Given the description of an element on the screen output the (x, y) to click on. 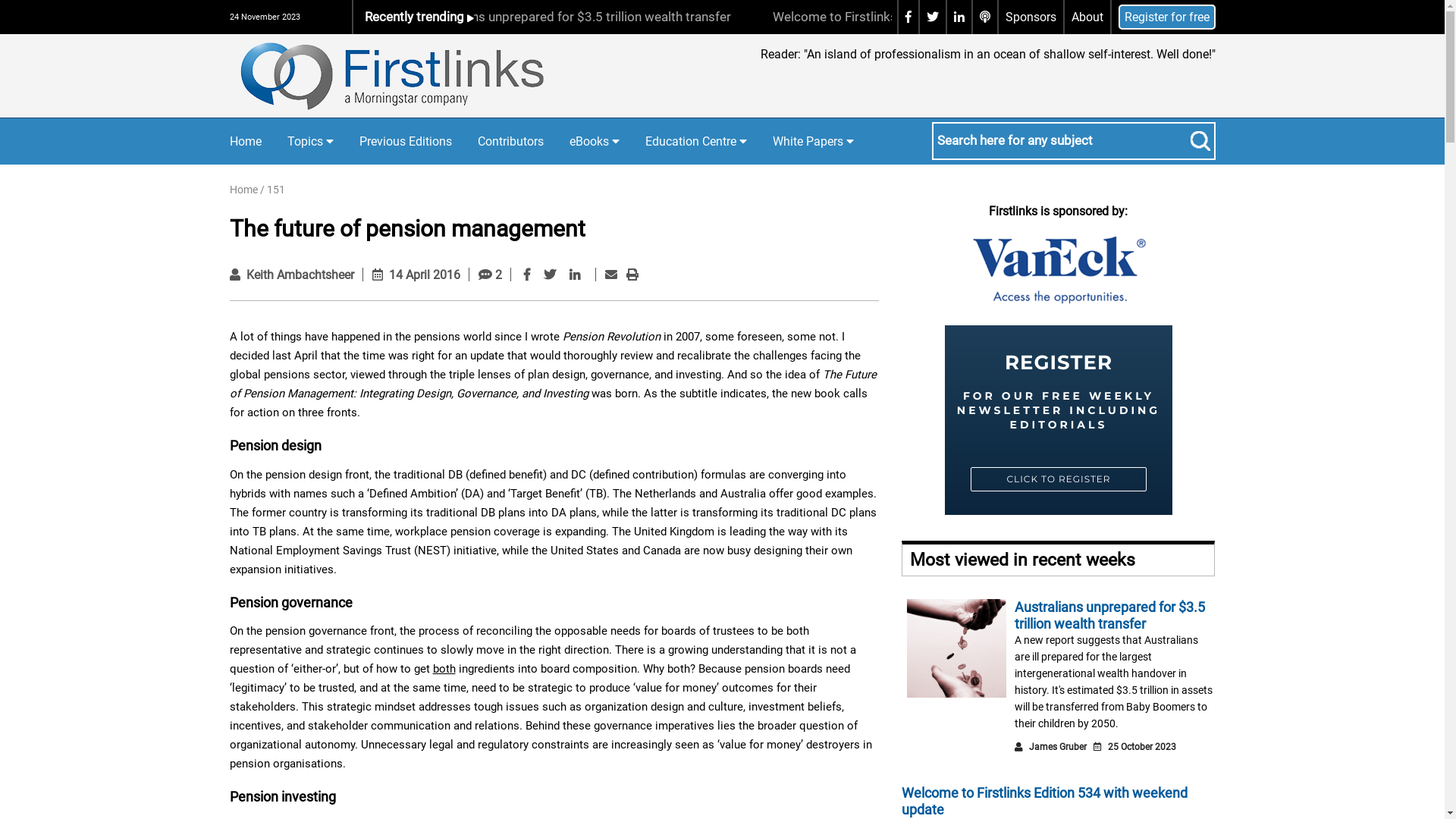
White Papers Element type: text (812, 141)
Home Element type: text (243, 189)
Keith Ambachtsheer Element type: text (299, 274)
Previous Editions Element type: text (405, 141)
About Element type: text (1086, 16)
Facebook Element type: hover (526, 274)
Register for free Element type: text (1165, 16)
Australians unprepared for $3.5 trillion wealth transfer Element type: text (806, 17)
Home Element type: text (244, 141)
Education Centre Element type: text (695, 141)
LinkedIn Element type: hover (574, 274)
search Element type: text (1200, 140)
Sponsors Element type: text (1030, 16)
Contributors Element type: text (510, 141)
Email Element type: hover (611, 274)
eBooks Element type: text (593, 141)
2 Element type: text (489, 274)
Australians unprepared for $3.5 trillion wealth transfer Element type: text (1109, 615)
Topics Element type: text (309, 141)
151 Element type: text (275, 189)
James Gruber Element type: text (1057, 746)
Print Element type: hover (632, 274)
Twitter Element type: hover (549, 274)
Welcome to Firstlinks Edition 534 with weekend update Element type: text (1044, 800)
